Given the description of an element on the screen output the (x, y) to click on. 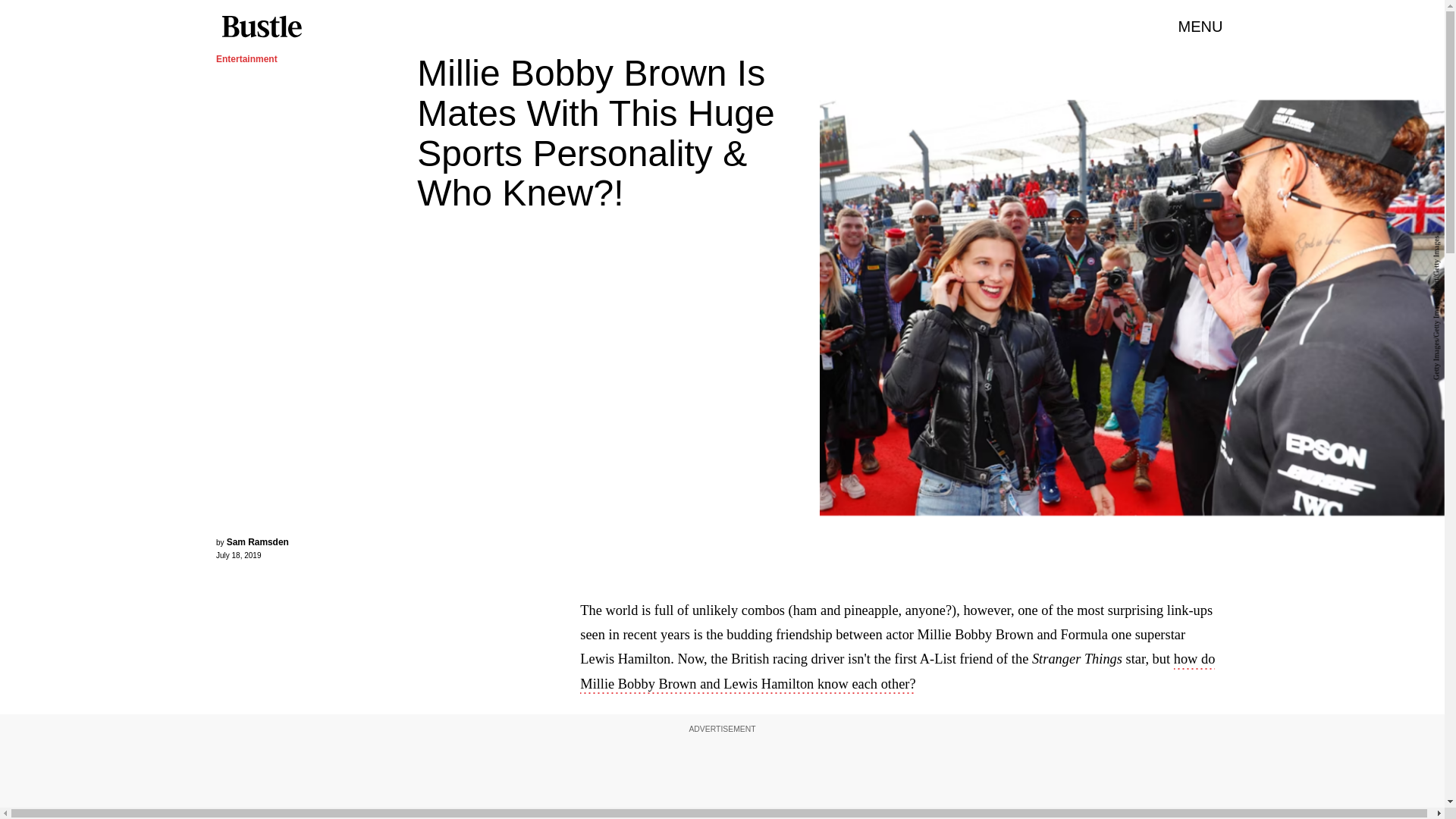
Sam Ramsden (257, 542)
Bustle (261, 26)
